Given the description of an element on the screen output the (x, y) to click on. 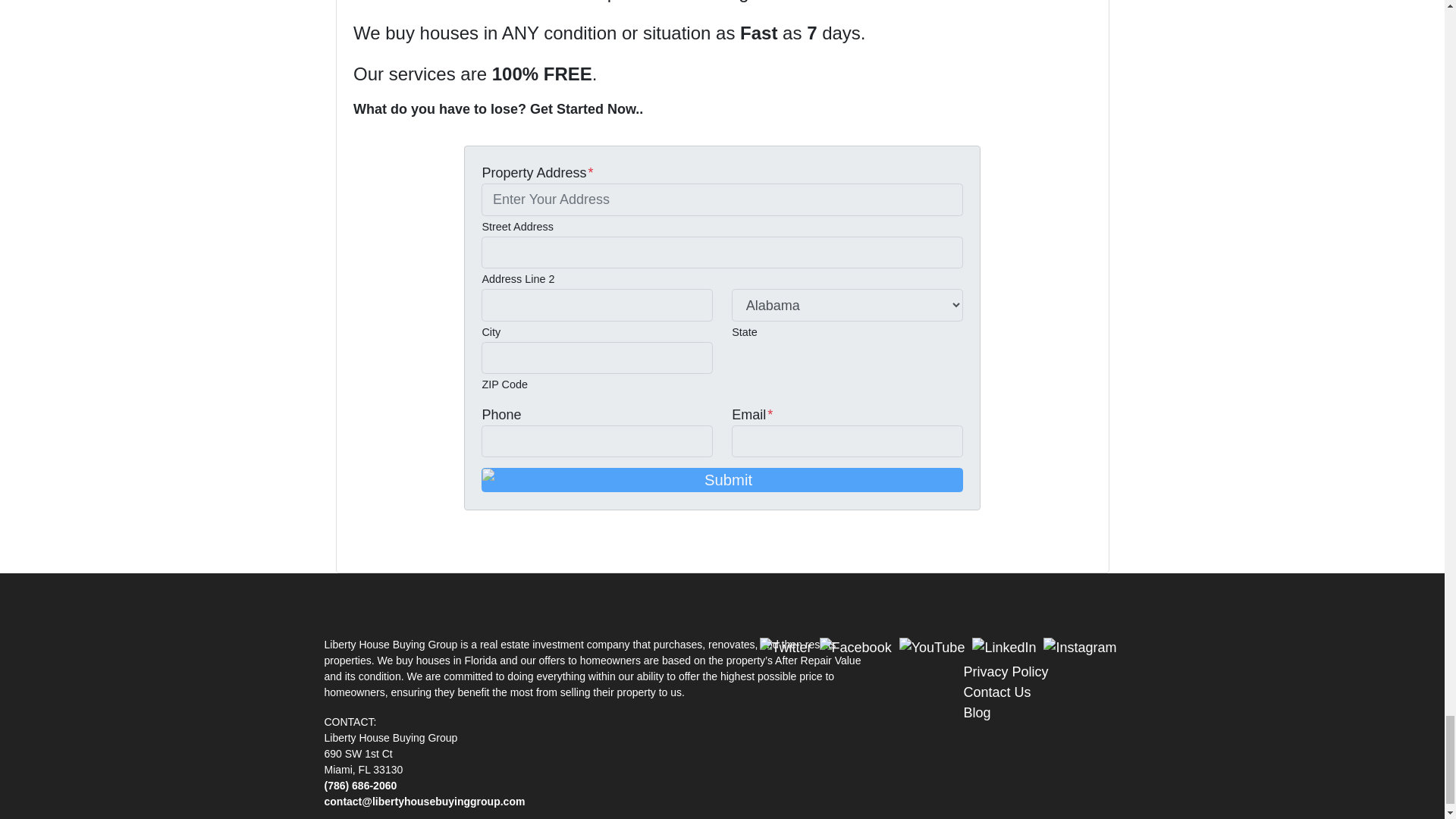
YouTube (404, 546)
Instagram (447, 546)
Contact Us (996, 692)
Facebook (383, 546)
Privacy Policy (1005, 671)
Twitter (362, 546)
LinkedIn (425, 546)
